Given the description of an element on the screen output the (x, y) to click on. 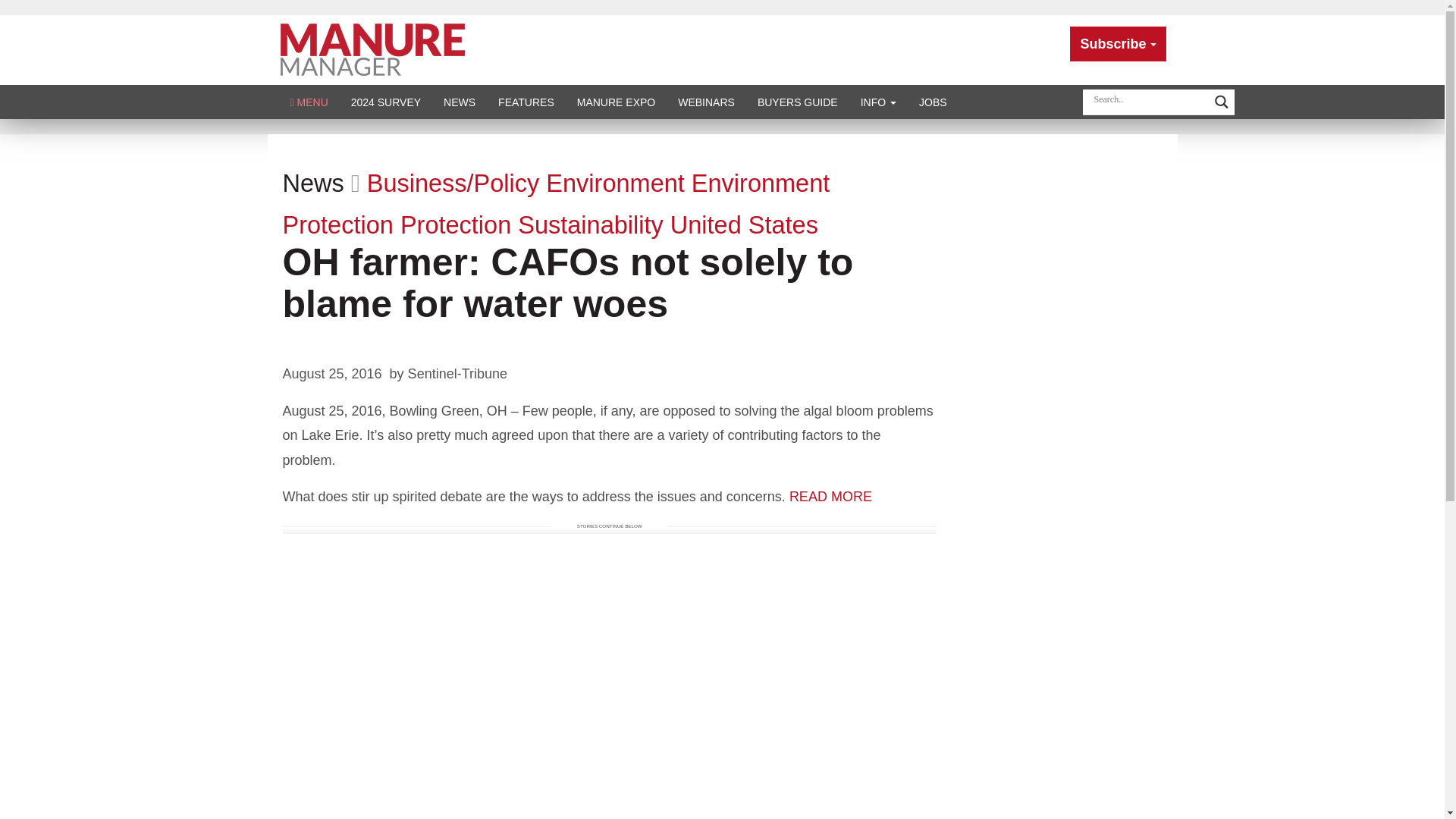
NEWS (459, 101)
Subscribe (1118, 43)
Click to show site navigation (309, 101)
WEBINARS (705, 101)
BUYERS GUIDE (796, 101)
MANURE EXPO (616, 101)
INFO (877, 101)
JOBS (932, 101)
2024 SURVEY (385, 101)
FEATURES (526, 101)
